Given the description of an element on the screen output the (x, y) to click on. 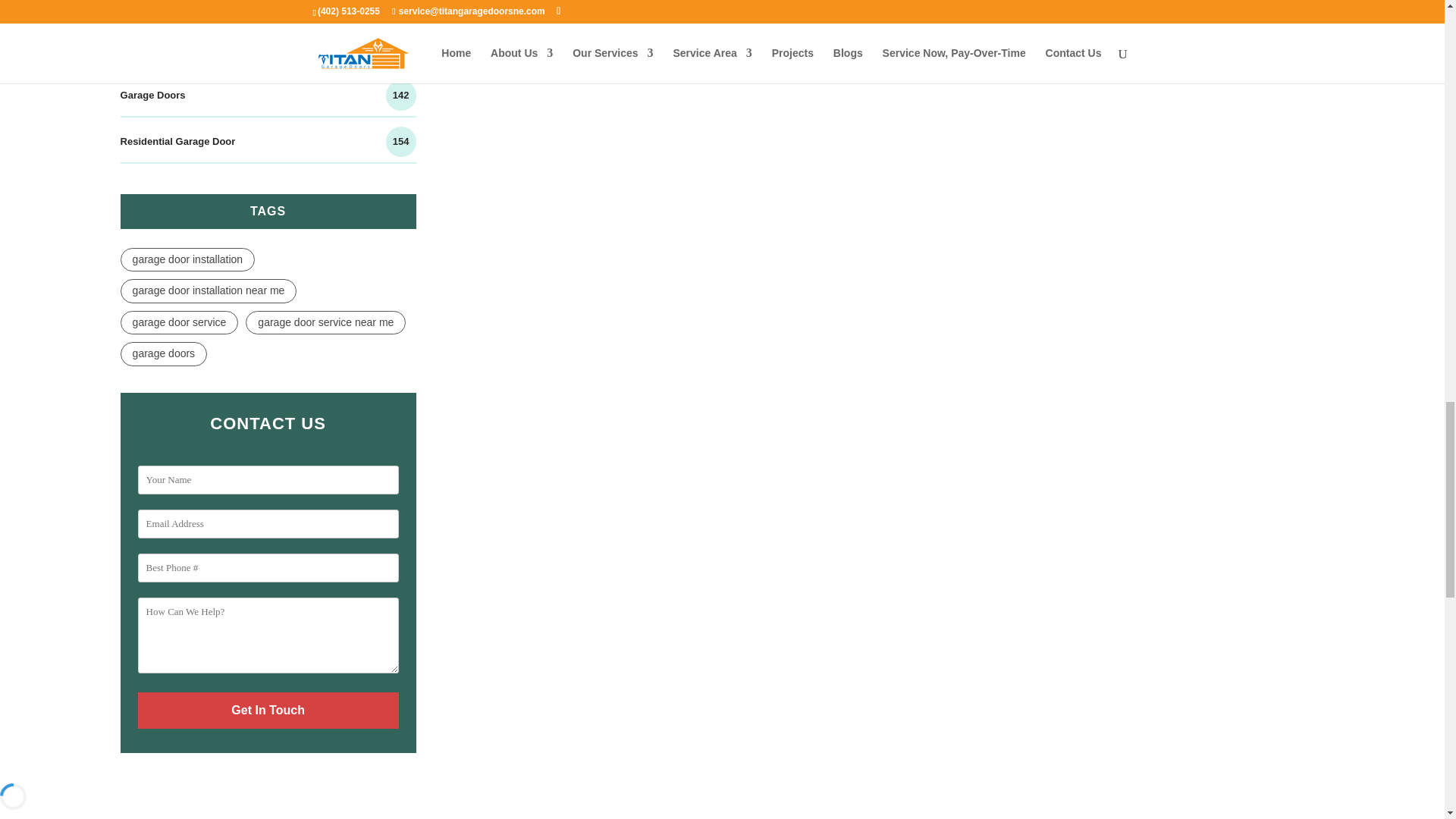
Get In Touch (268, 710)
